Given the description of an element on the screen output the (x, y) to click on. 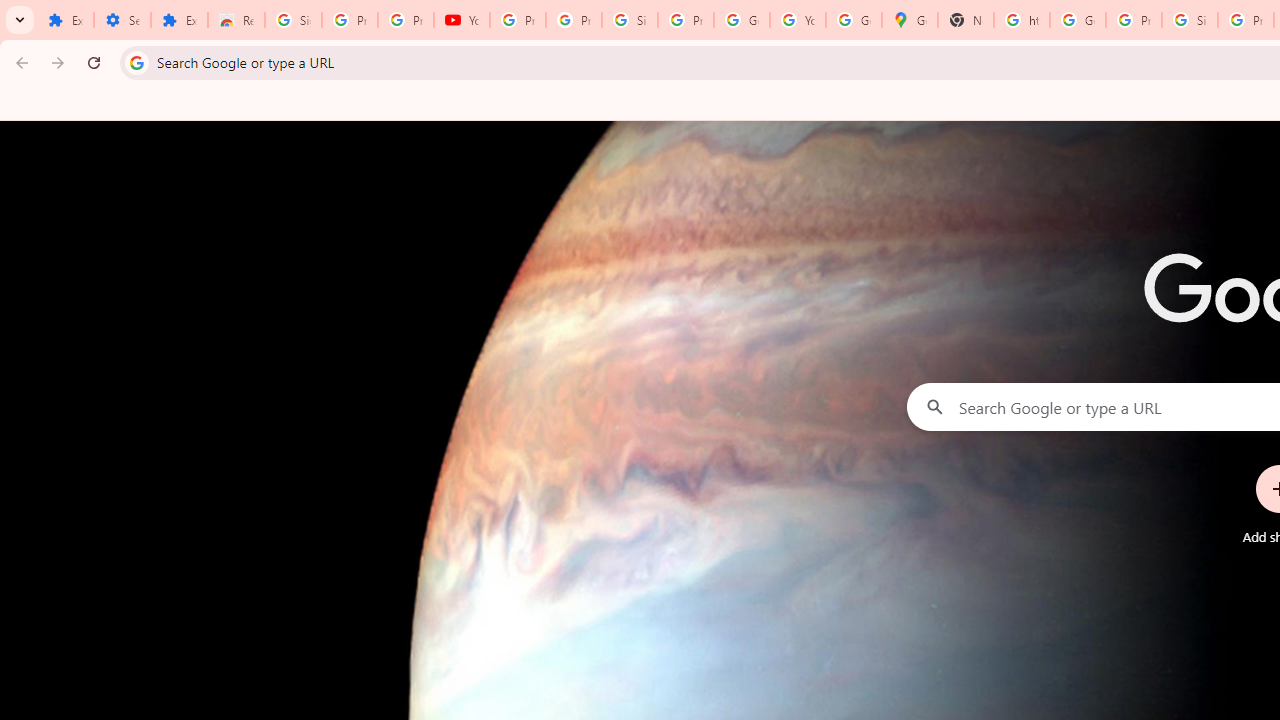
YouTube (797, 20)
https://scholar.google.com/ (1021, 20)
Sign in - Google Accounts (629, 20)
Reviews: Helix Fruit Jump Arcade Game (235, 20)
